Given the description of an element on the screen output the (x, y) to click on. 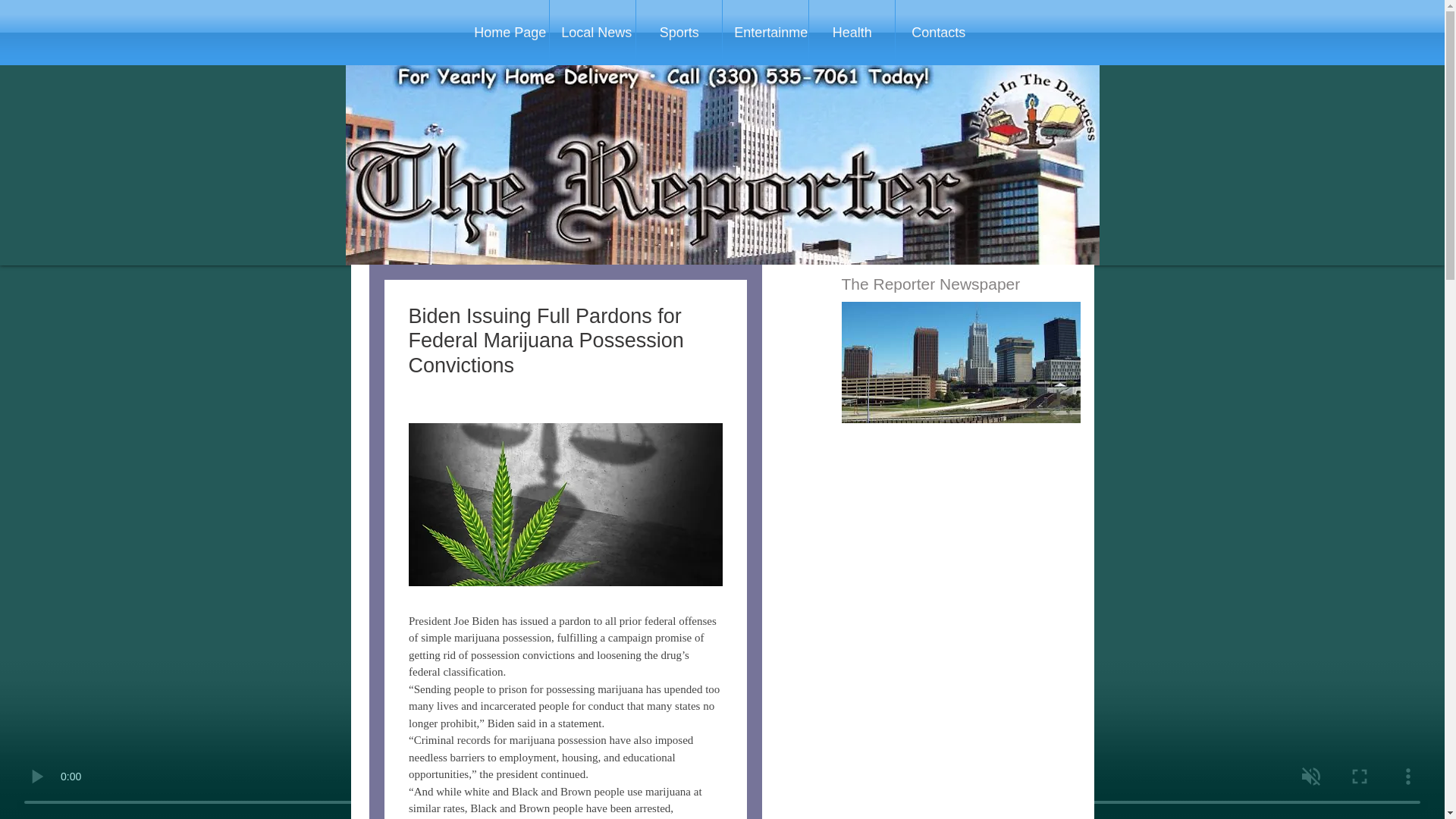
Local News (592, 32)
Entertainment (765, 32)
Health (852, 32)
Home Page (505, 32)
Sports (679, 32)
Contacts (938, 32)
